Given the description of an element on the screen output the (x, y) to click on. 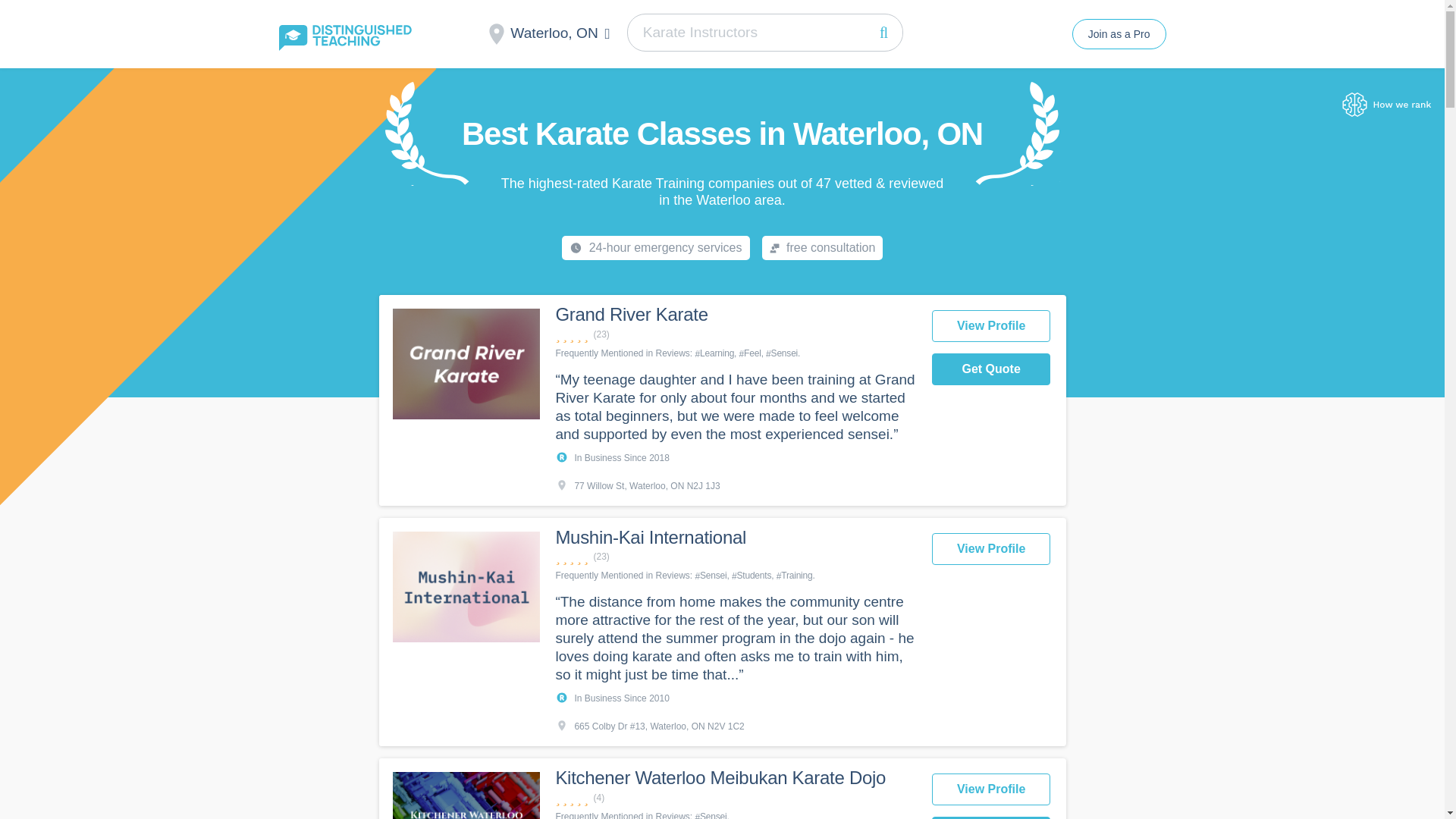
Search (883, 32)
Search (883, 32)
Join as a Pro (1118, 33)
Search (883, 32)
5.0 (734, 334)
free consultation (821, 247)
24-hour emergency services (655, 247)
Get Quote (991, 817)
Get Quote (991, 368)
5.0 (734, 556)
5.0 (734, 798)
